Given the description of an element on the screen output the (x, y) to click on. 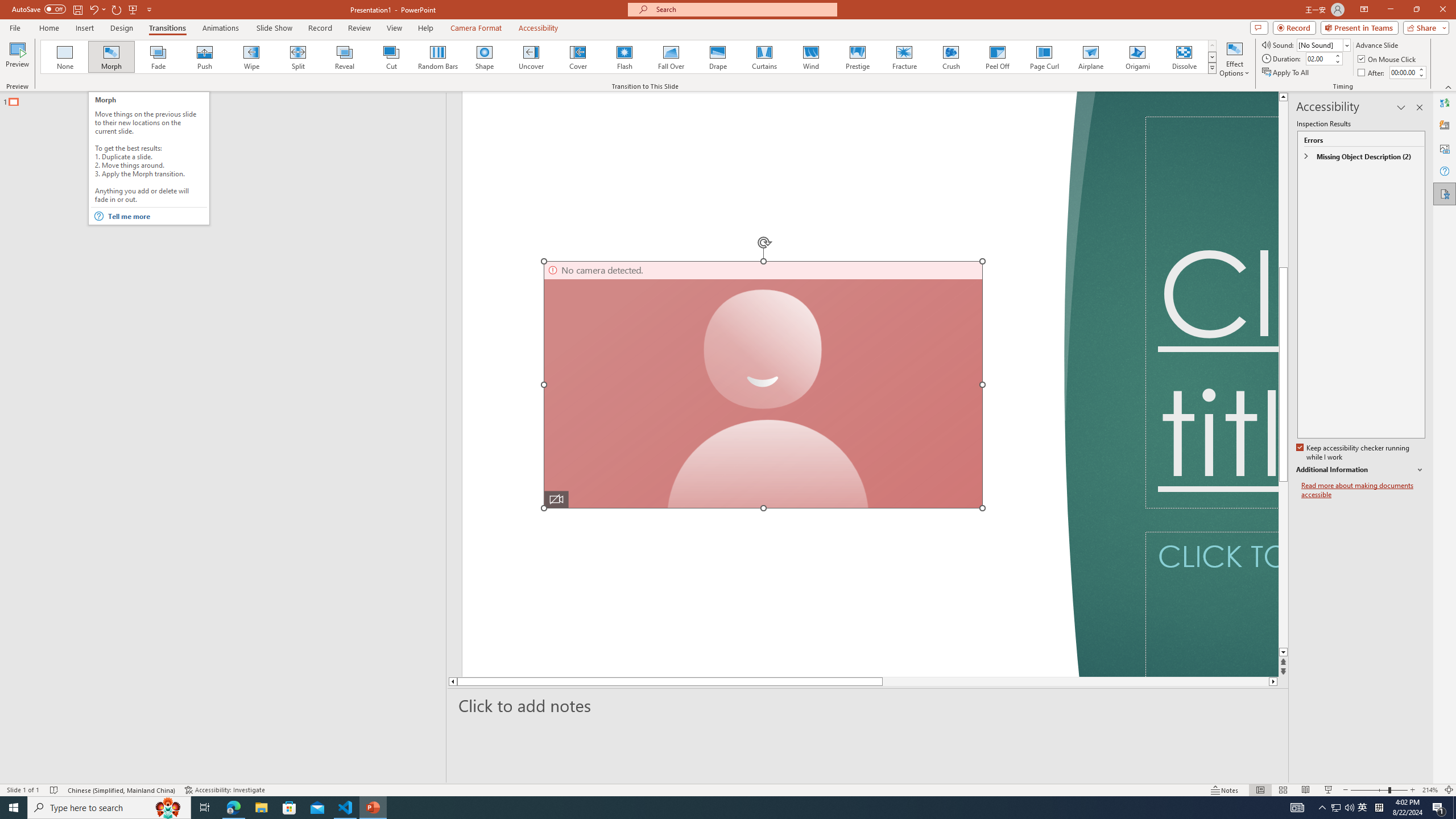
Page Curl (1043, 56)
Camera Format (475, 28)
Fall Over (670, 56)
Push (205, 56)
Peel Off (997, 56)
